Given the description of an element on the screen output the (x, y) to click on. 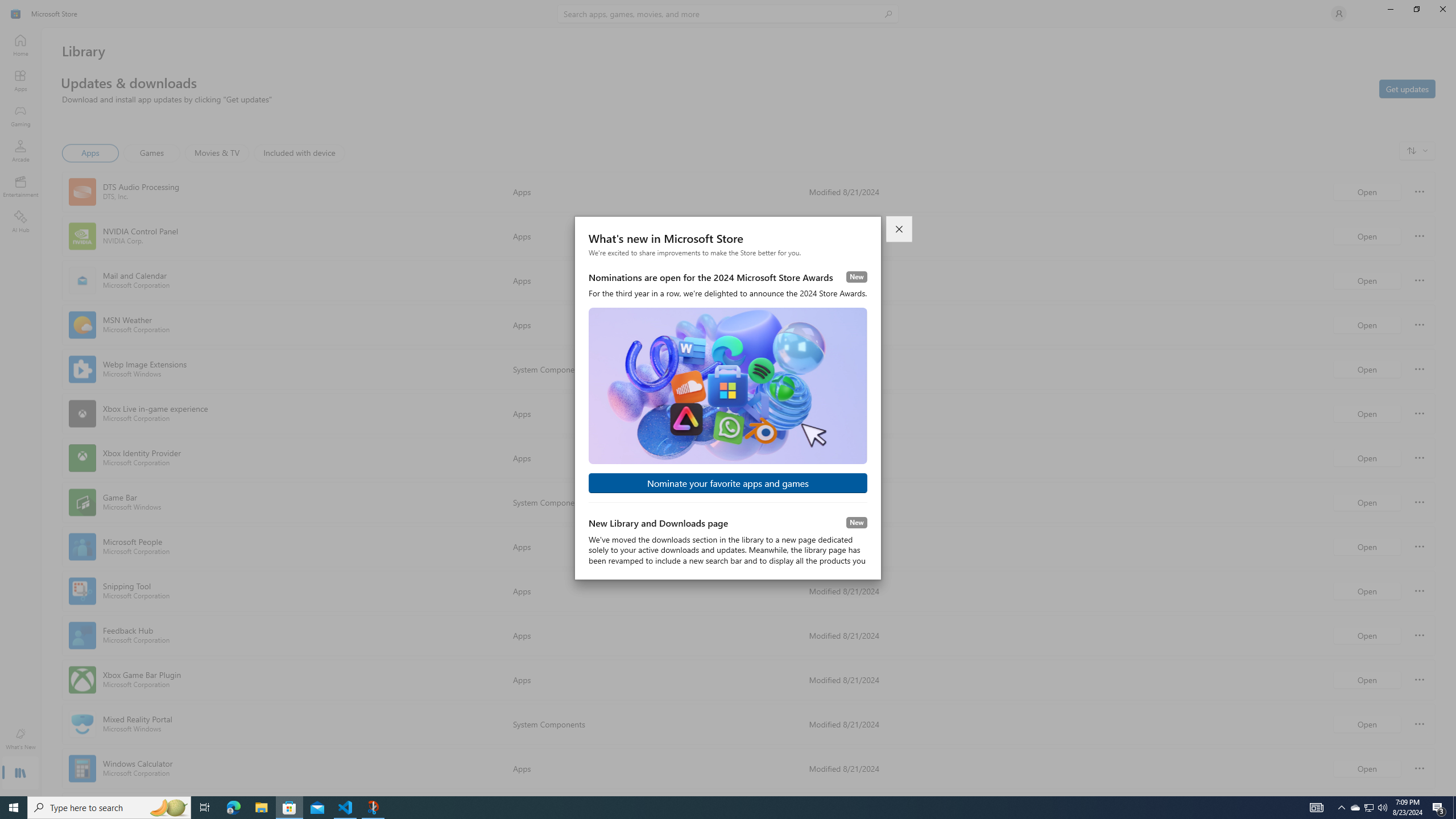
Close Microsoft Store (1442, 9)
More options (1419, 768)
Arcade (20, 150)
Close dialog (899, 229)
What's New (20, 738)
Nominate your favorite apps and games (727, 483)
Open (1366, 768)
Included with device (299, 153)
User profile (1338, 13)
Restore Microsoft Store (1416, 9)
Gaming (20, 115)
Library (20, 773)
Movies & TV (216, 153)
Get updates (1406, 88)
